Given the description of an element on the screen output the (x, y) to click on. 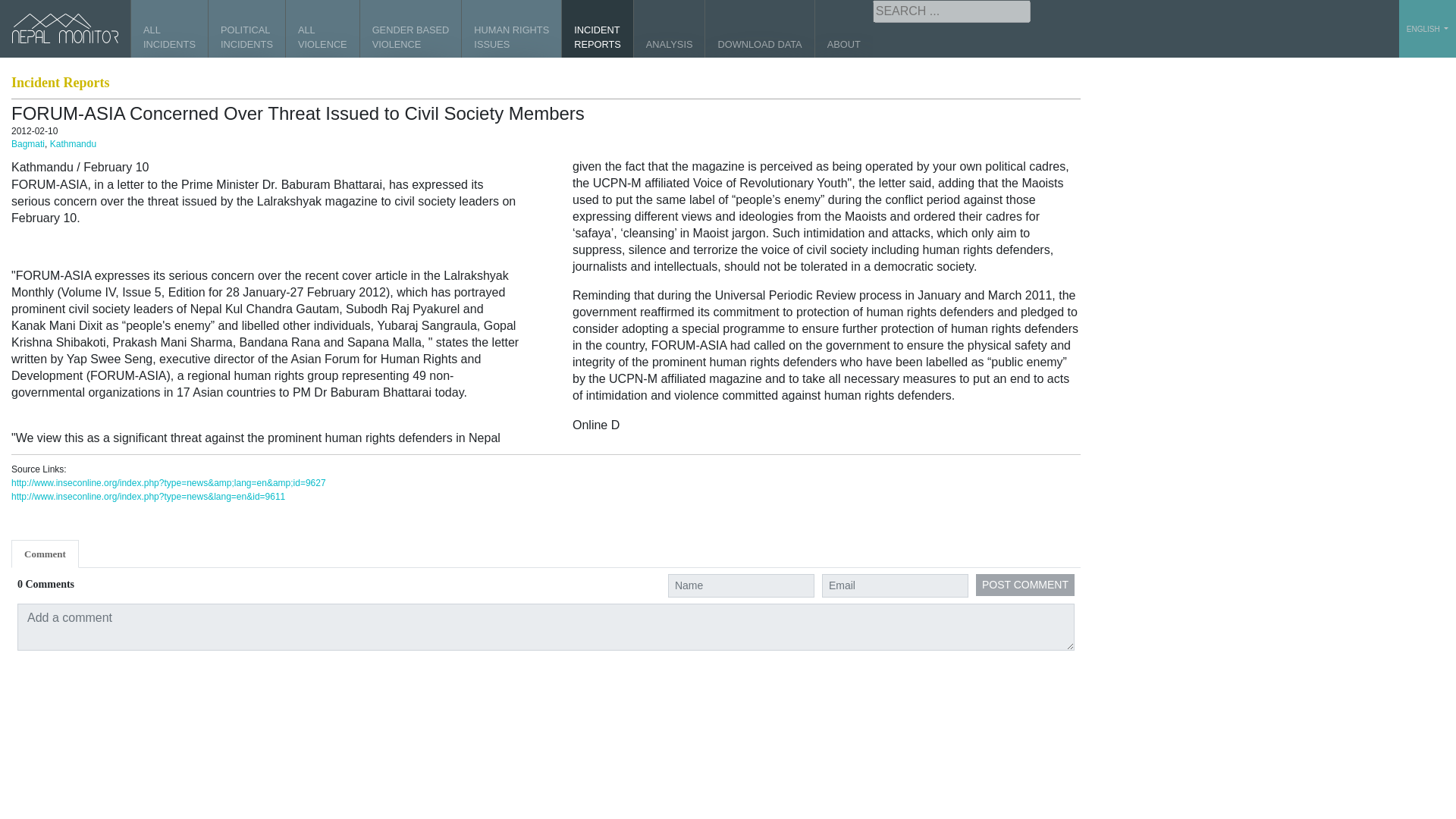
List of all incidents (596, 28)
Downloads (758, 28)
Kathmandu (72, 143)
ANALYSIS (668, 28)
Incidents of physical violence only (510, 28)
About our NepalMonitor.org initiative (322, 28)
POST COMMENT (410, 28)
ABOUT (842, 28)
Comment (596, 28)
